Given the description of an element on the screen output the (x, y) to click on. 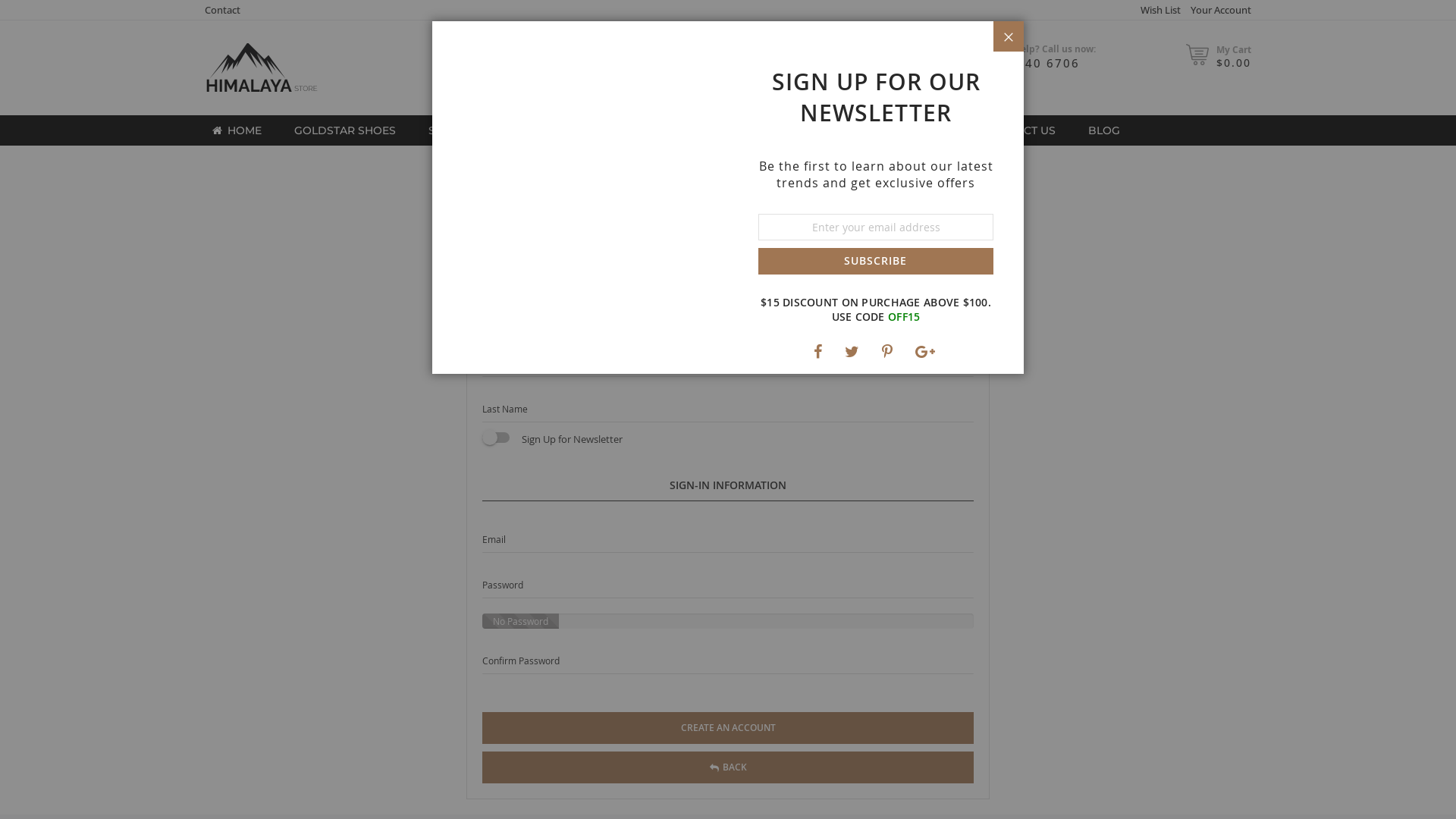
OTHER COLLECTIONS Element type: text (797, 130)
Sign in with Google Element type: text (808, 236)
Password Element type: hover (727, 582)
HIKING NEPAL Element type: text (667, 130)
CREATE AN ACCOUNT Element type: text (721, 757)
Skip to Content Element type: text (198, 91)
Your Account Element type: text (1214, 9)
Email Element type: hover (727, 537)
Last Name Element type: hover (727, 407)
02 8740 6706 Element type: text (1027, 62)
BLOG Element type: text (1098, 130)
Confirm Password Element type: hover (727, 658)
Sign in with Facebook Element type: text (635, 236)
GOLDSTAR SHOES Element type: text (338, 130)
Contact Element type: text (216, 9)
BACK Element type: text (721, 796)
My Cart Element type: text (1227, 49)
HOME Element type: text (230, 130)
First Name Element type: hover (727, 361)
SEARCH Element type: text (885, 57)
URBAN YETI Element type: text (563, 130)
CONTACT US Element type: text (1014, 130)
SONAM GEAR Element type: text (460, 130)
ABOUT US Element type: text (917, 130)
Wish List Element type: text (1154, 10)
